Given the description of an element on the screen output the (x, y) to click on. 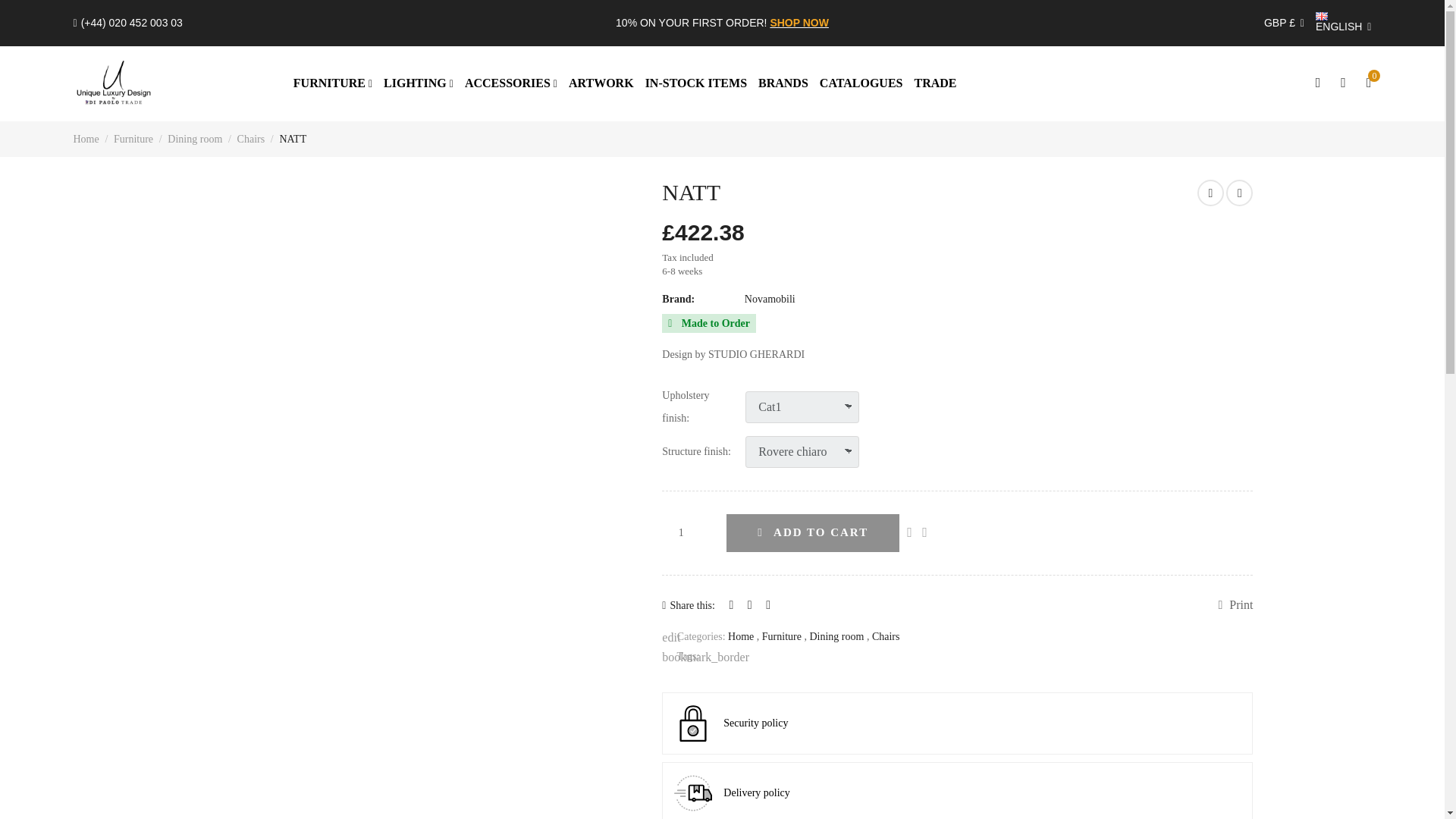
1 (688, 533)
CANDY (1238, 192)
FURNITURE (333, 82)
TIME (1210, 192)
ENGLISH (1343, 22)
